Given the description of an element on the screen output the (x, y) to click on. 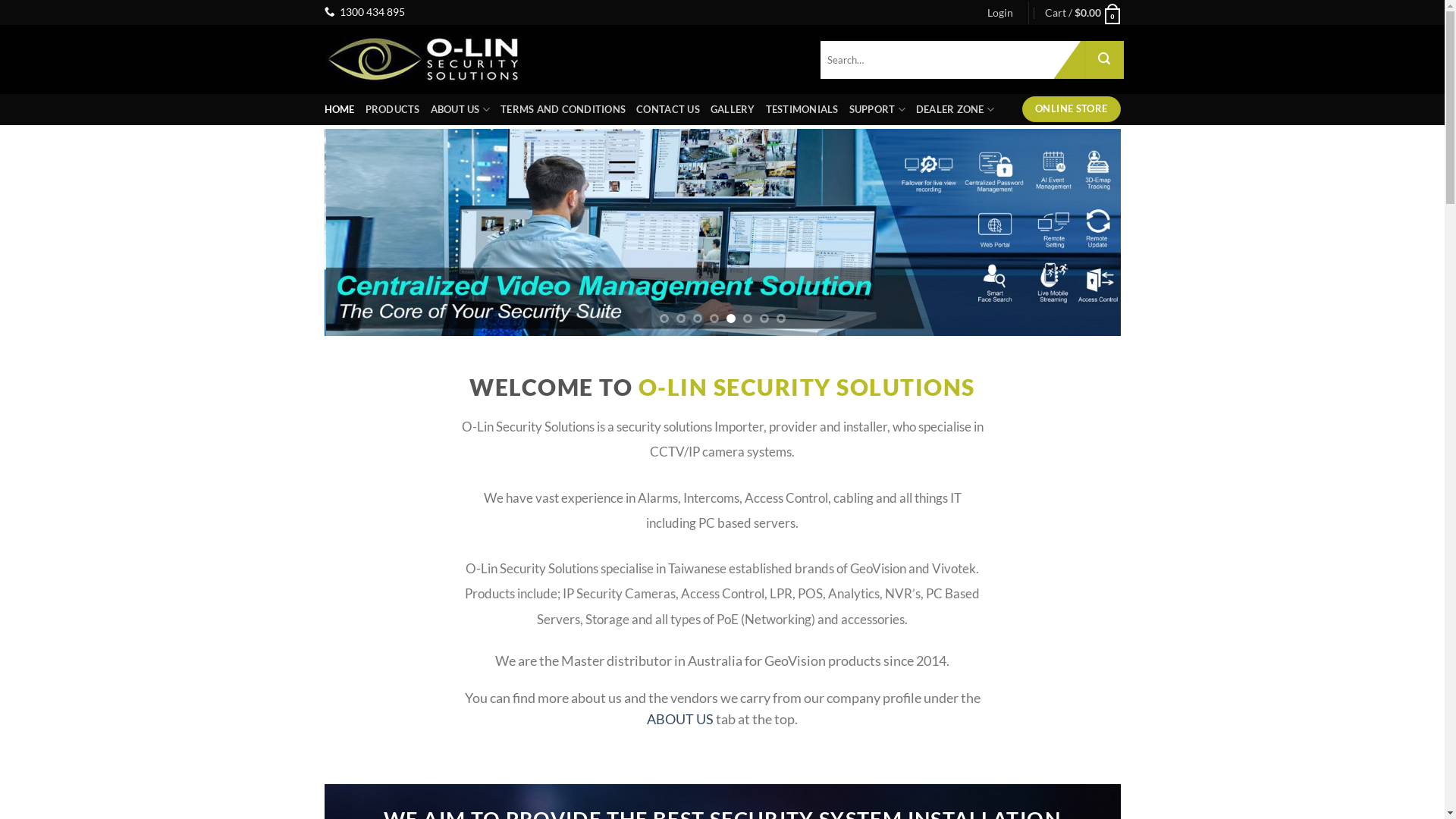
ABOUT US Element type: text (460, 109)
SUPPORT Element type: text (877, 109)
Login Element type: text (1000, 12)
HOME Element type: text (339, 109)
ONLINE STORE Element type: text (1071, 109)
GALLERY Element type: text (732, 109)
ABOUT US Element type: text (679, 719)
O-LIN Security Solutions - O-LIN Security Solutions Element type: hover (425, 59)
TERMS AND CONDITIONS Element type: text (562, 109)
Cart / $0.00
0 Element type: text (1082, 12)
DEALER ZONE Element type: text (955, 109)
Search Element type: text (1104, 59)
CONTACT US Element type: text (667, 109)
PRODUCTS Element type: text (392, 109)
TESTIMONIALS Element type: text (801, 109)
